Given the description of an element on the screen output the (x, y) to click on. 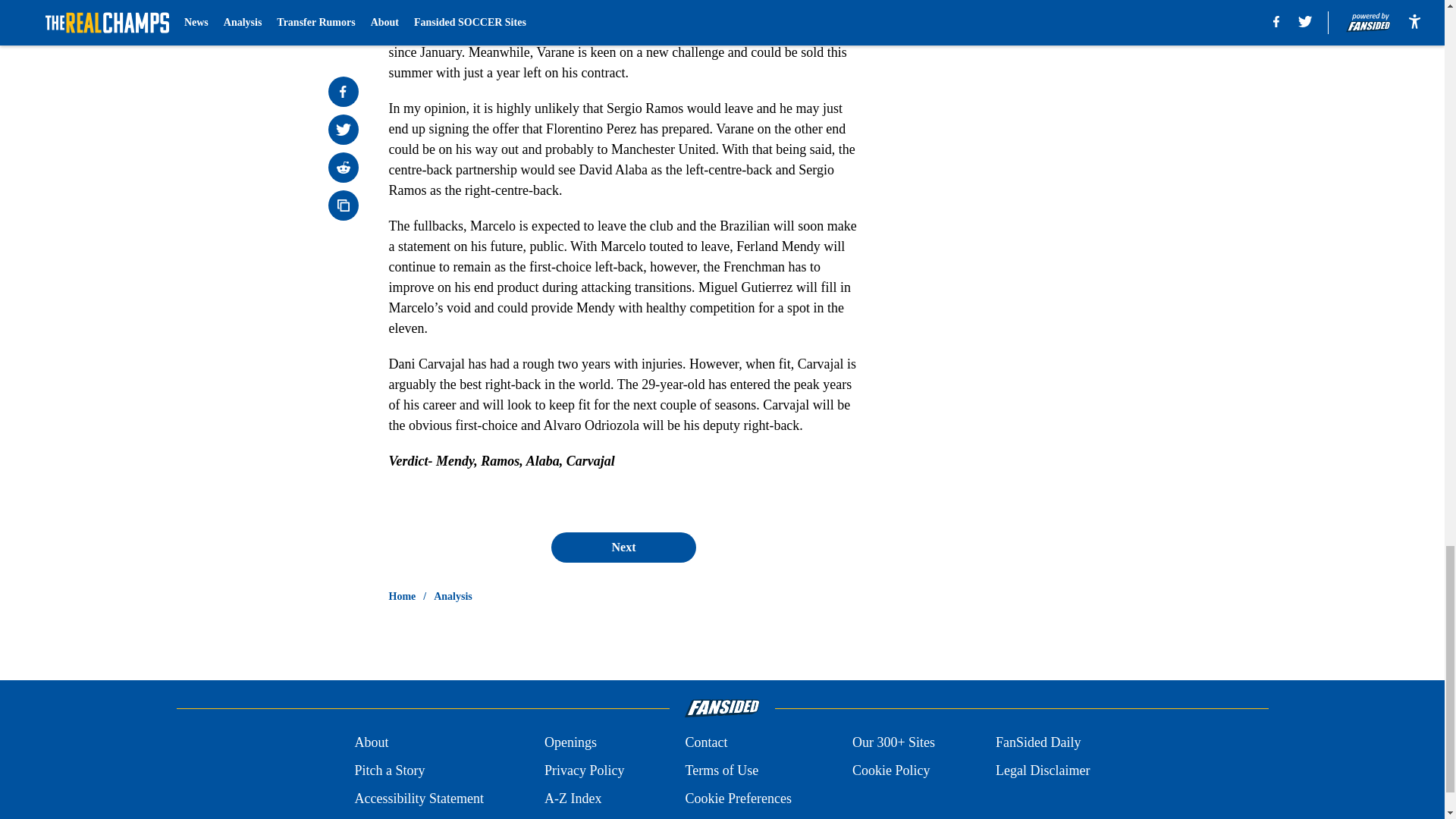
Analysis (452, 596)
A-Z Index (572, 798)
Contact (705, 742)
Cookie Preferences (737, 798)
Cookie Policy (890, 770)
Home (401, 596)
Privacy Policy (584, 770)
Terms of Use (721, 770)
Next (622, 547)
Legal Disclaimer (1042, 770)
